Given the description of an element on the screen output the (x, y) to click on. 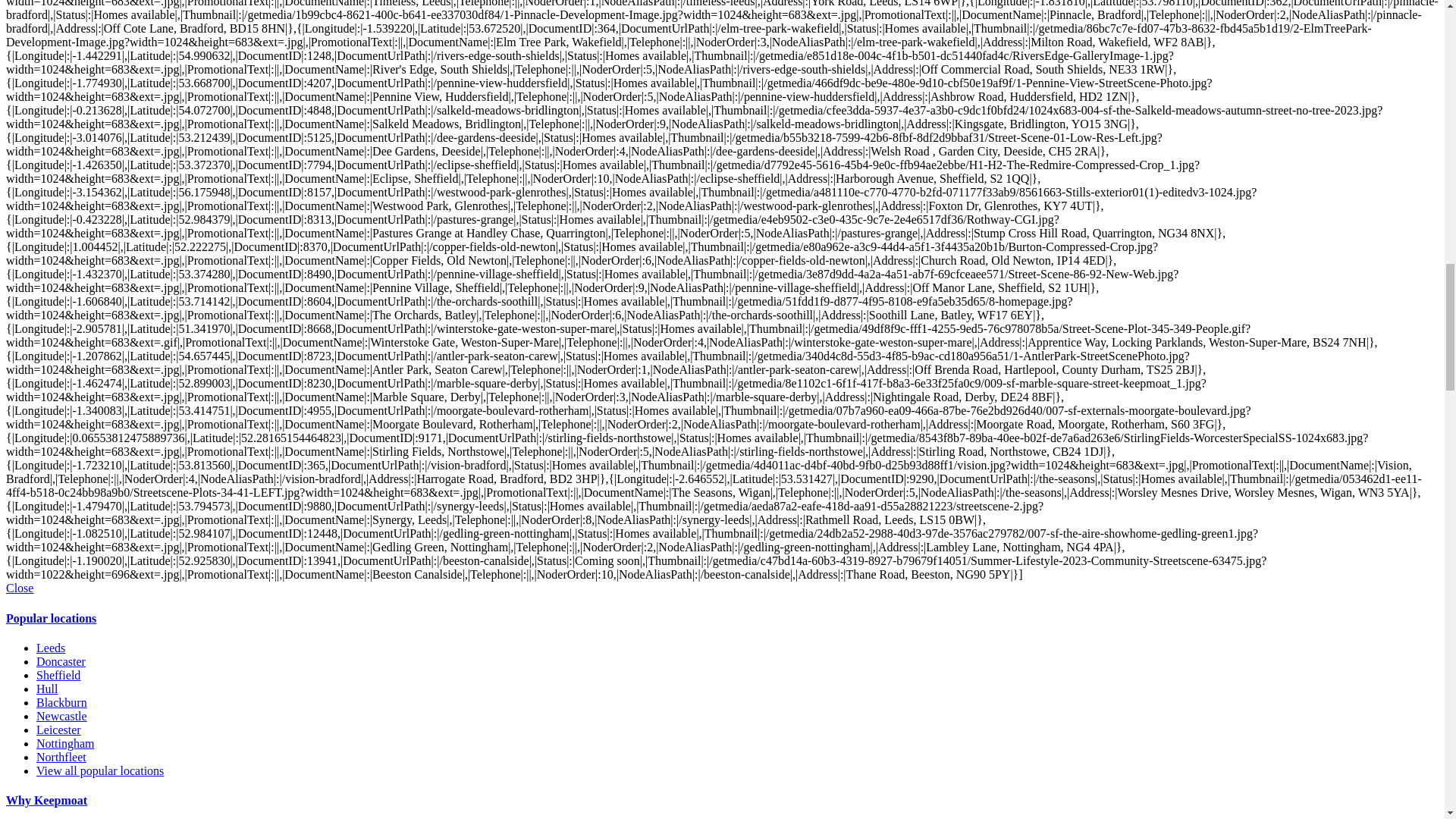
Blackburn (61, 702)
Why Keepmoat (46, 799)
Doncaster (60, 661)
View all popular locations (99, 770)
Close (19, 587)
Sheffield (58, 675)
Leicester (58, 729)
Newcastle (61, 716)
Leeds (50, 647)
Hull (47, 688)
Popular locations (50, 617)
Northfleet (60, 757)
Nottingham (65, 743)
